Given the description of an element on the screen output the (x, y) to click on. 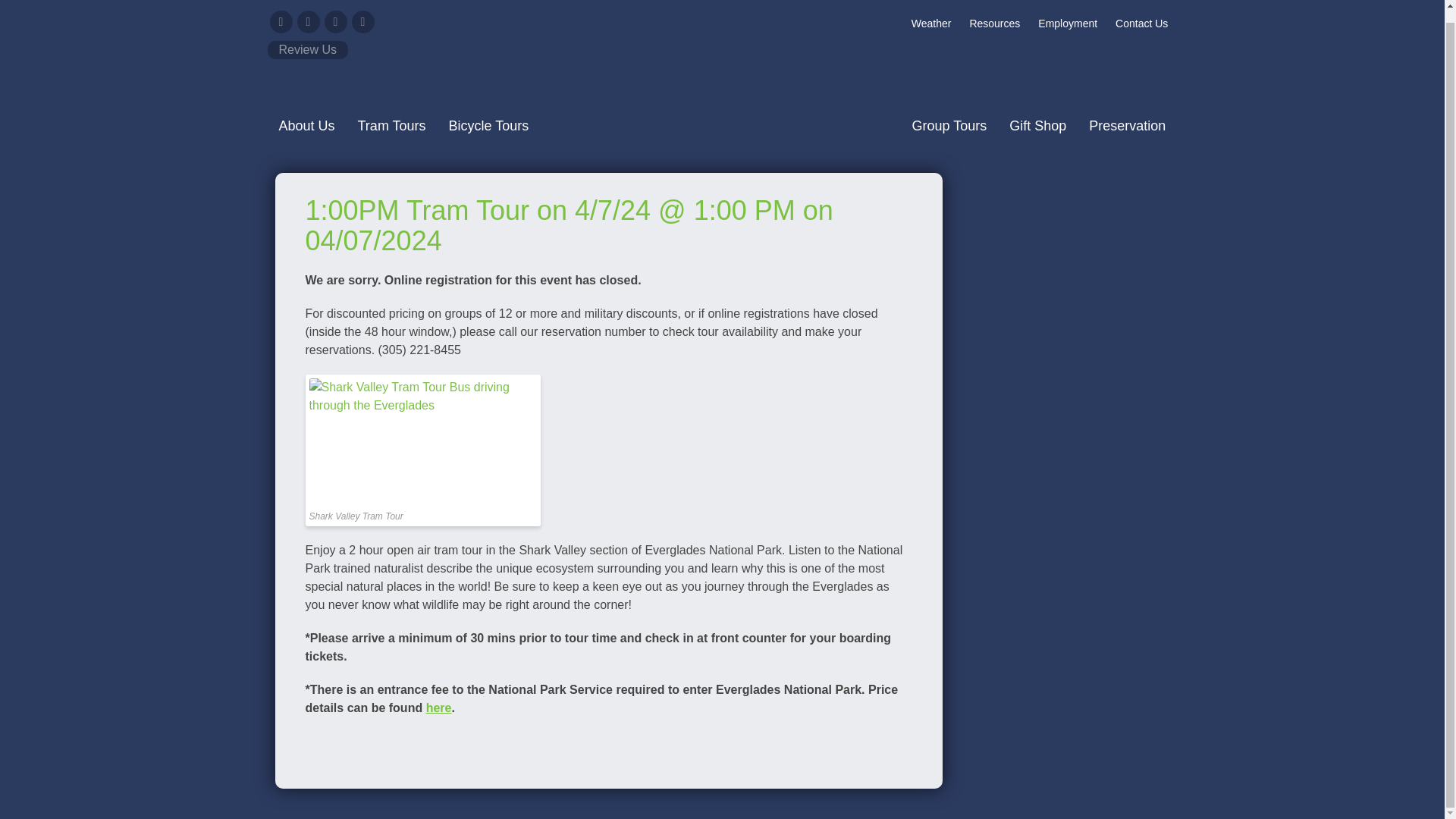
Resources (994, 23)
Bicycle Tours (489, 125)
About Us (306, 125)
Preservation (1126, 125)
Tram Tours (392, 125)
Gift Shop (1037, 125)
Employment (1067, 23)
Contact Us (1141, 23)
Review Us (306, 49)
Shark Valley Tram Tours (721, 70)
Weather (931, 23)
Group Tours (949, 125)
here (438, 707)
